Given the description of an element on the screen output the (x, y) to click on. 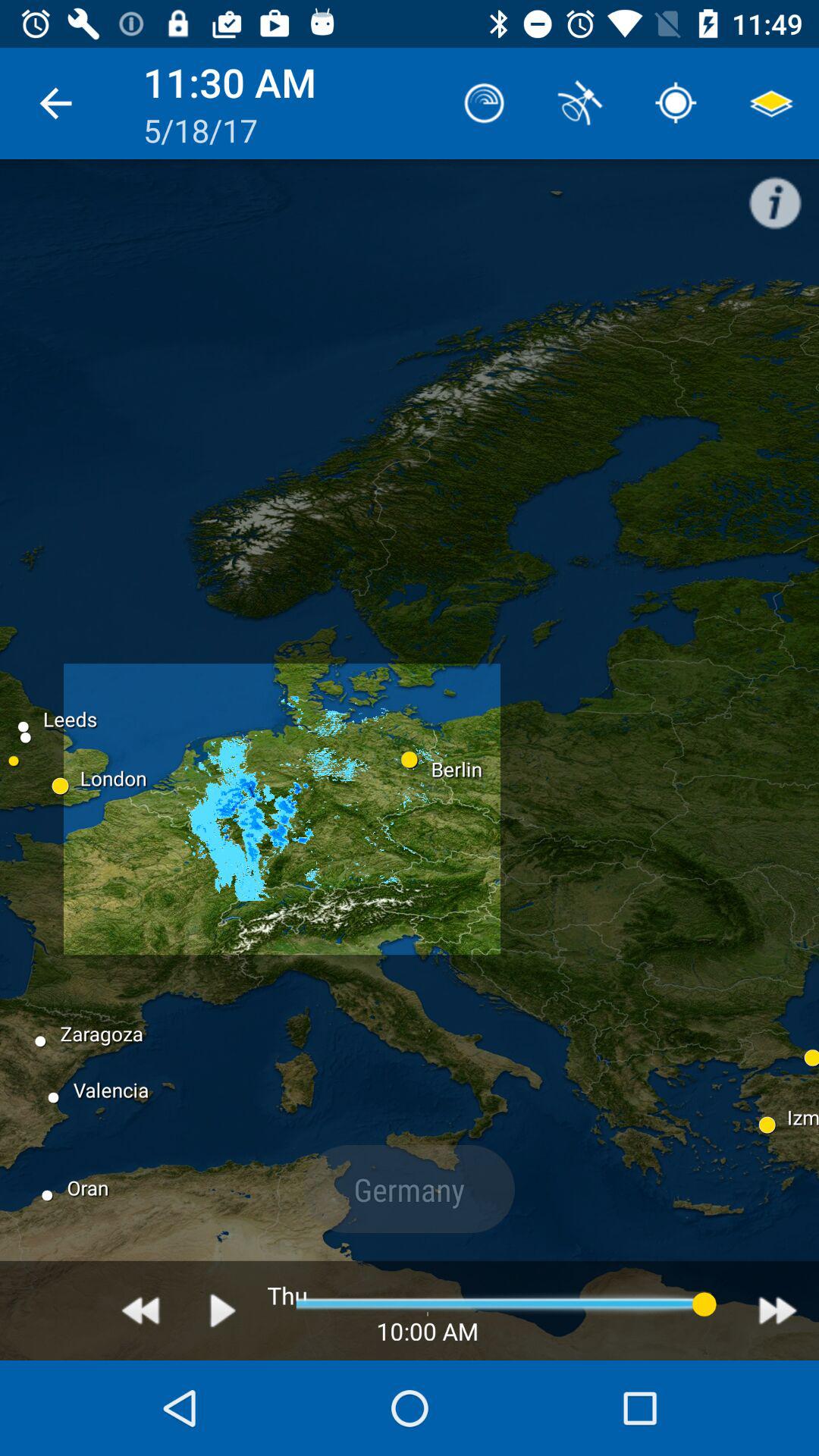
fast rewind (140, 1310)
